Given the description of an element on the screen output the (x, y) to click on. 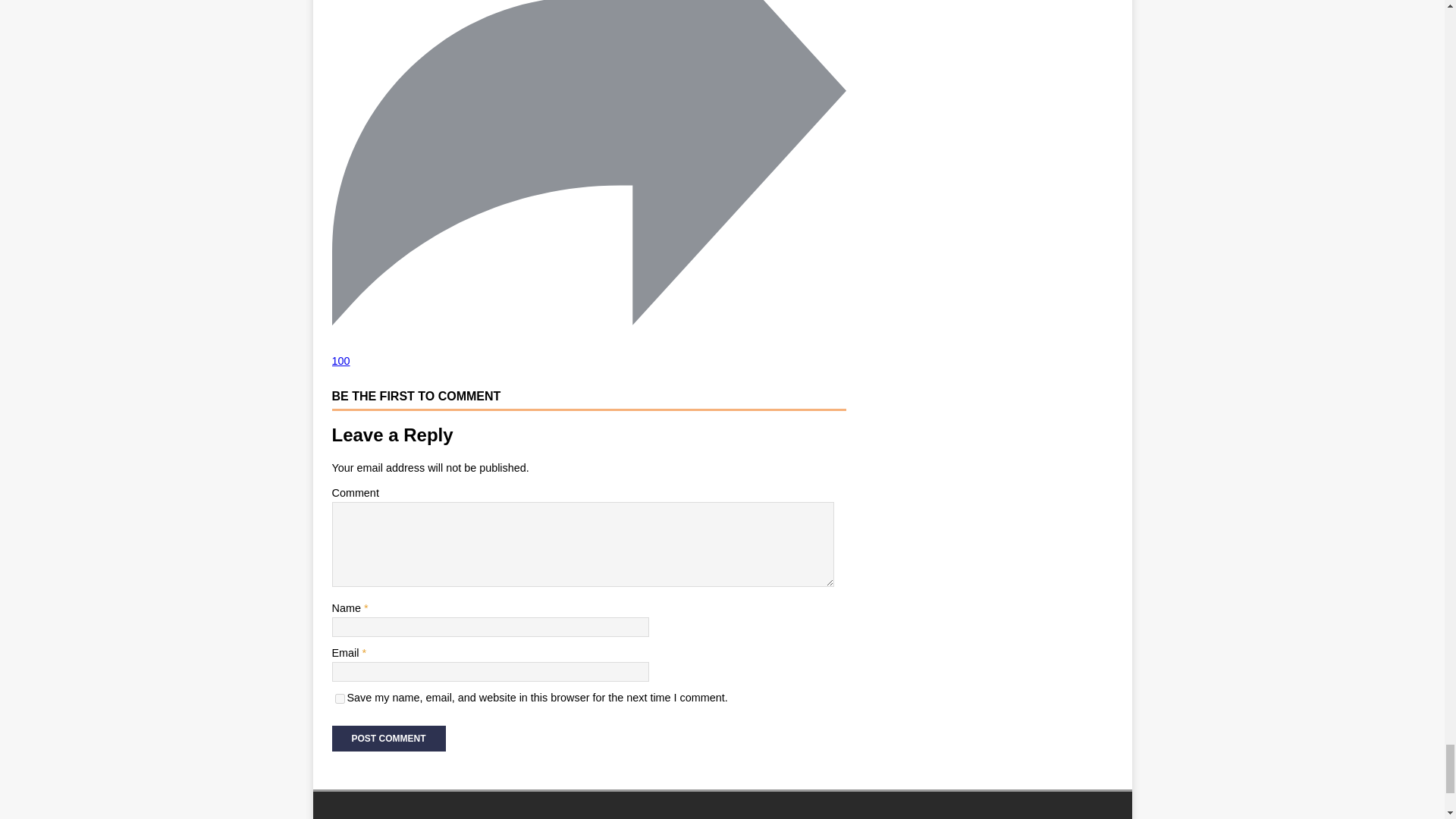
Post Comment (388, 738)
yes (339, 698)
Post Comment (388, 738)
